Given the description of an element on the screen output the (x, y) to click on. 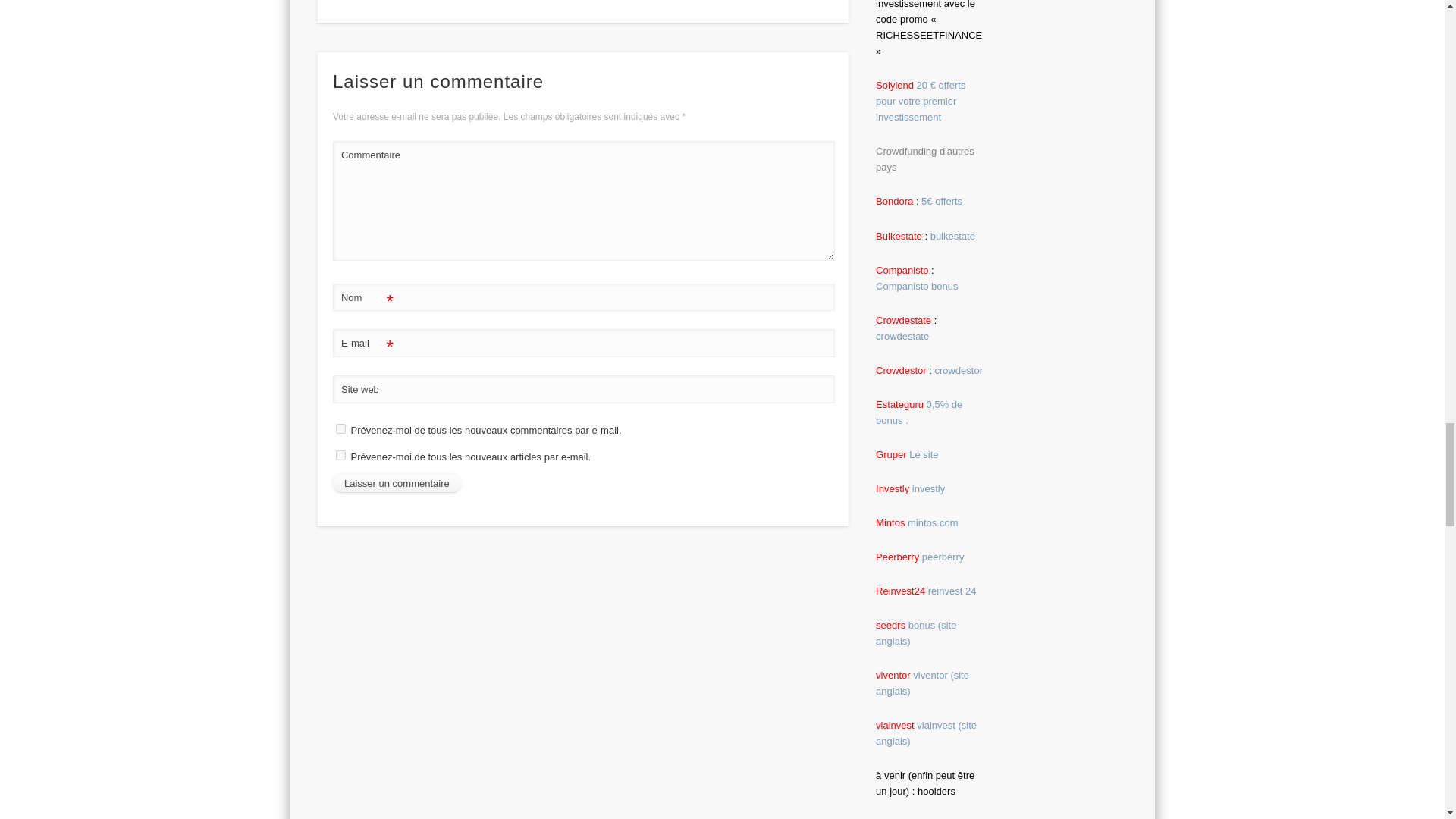
subscribe (341, 429)
subscribe (341, 455)
Laisser un commentaire (397, 484)
